Given the description of an element on the screen output the (x, y) to click on. 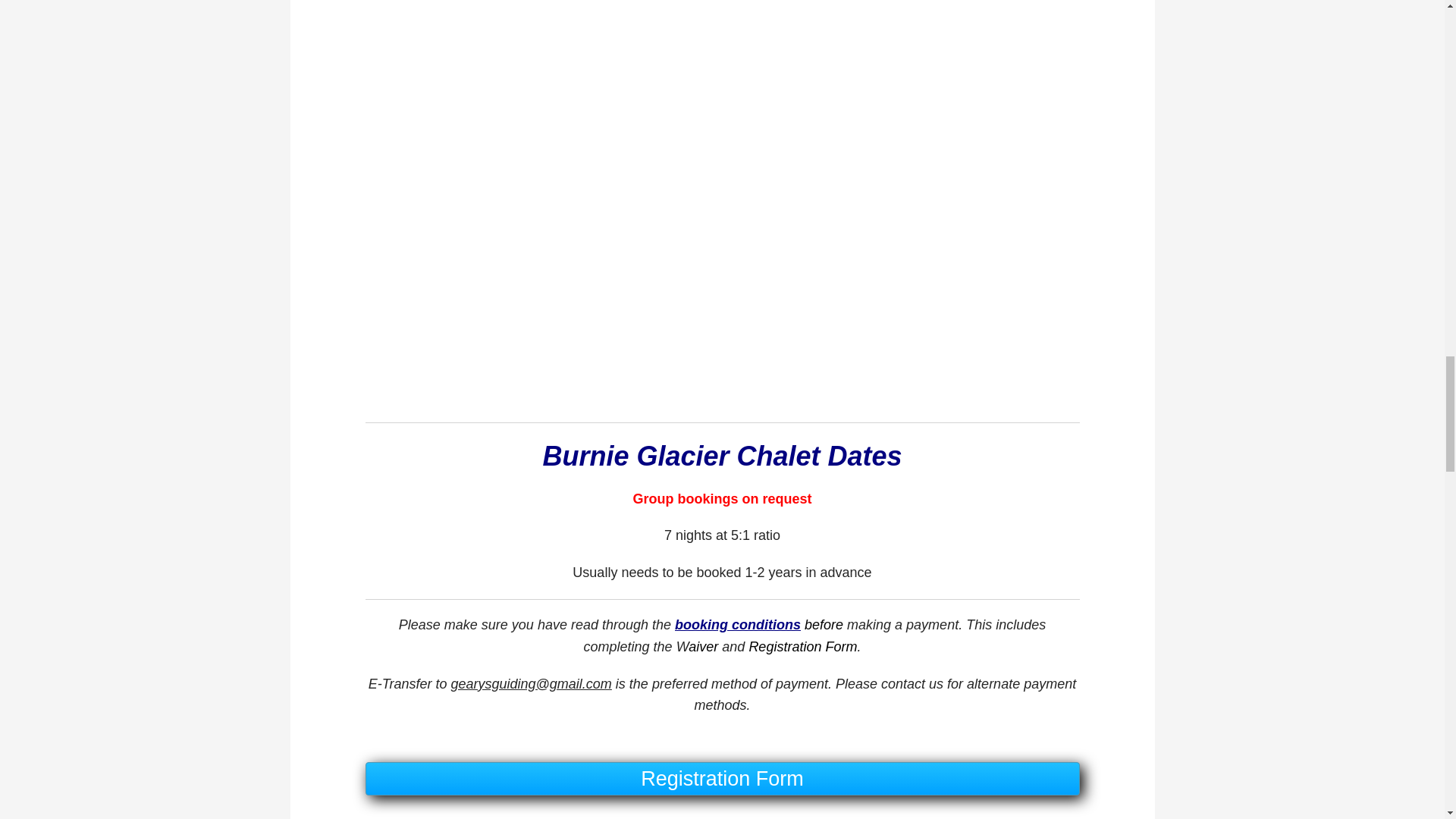
Booking Conditions (737, 624)
